Given the description of an element on the screen output the (x, y) to click on. 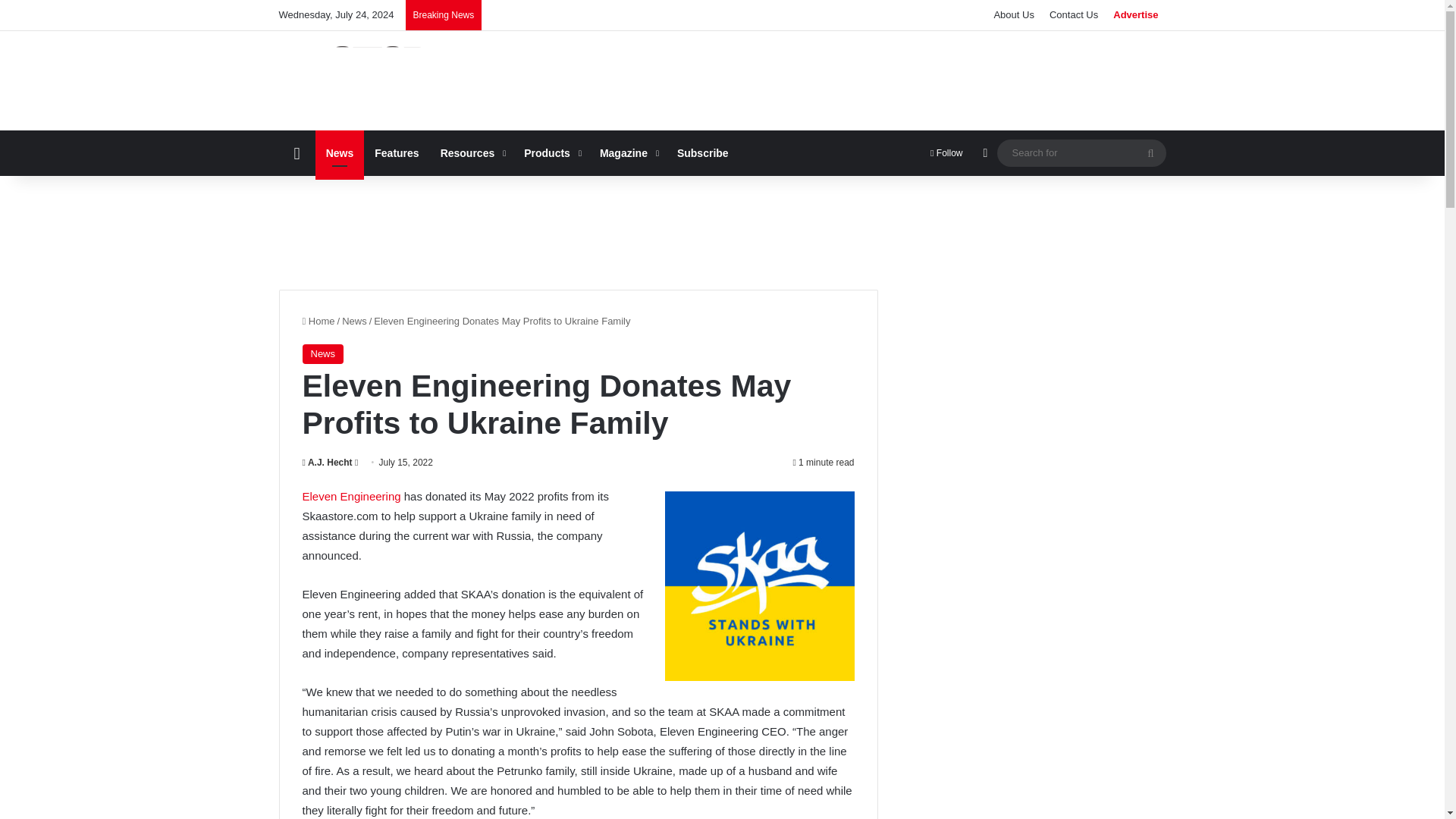
About Us (1013, 15)
Advertise (1135, 15)
A.J. Hecht (326, 462)
Features (396, 153)
Home (297, 153)
Contact Us (1073, 15)
News (322, 353)
News (340, 153)
Follow (946, 153)
Home (317, 320)
Search for (1080, 152)
Switch skin (984, 153)
Resources (471, 153)
Subscribe (702, 153)
